Given the description of an element on the screen output the (x, y) to click on. 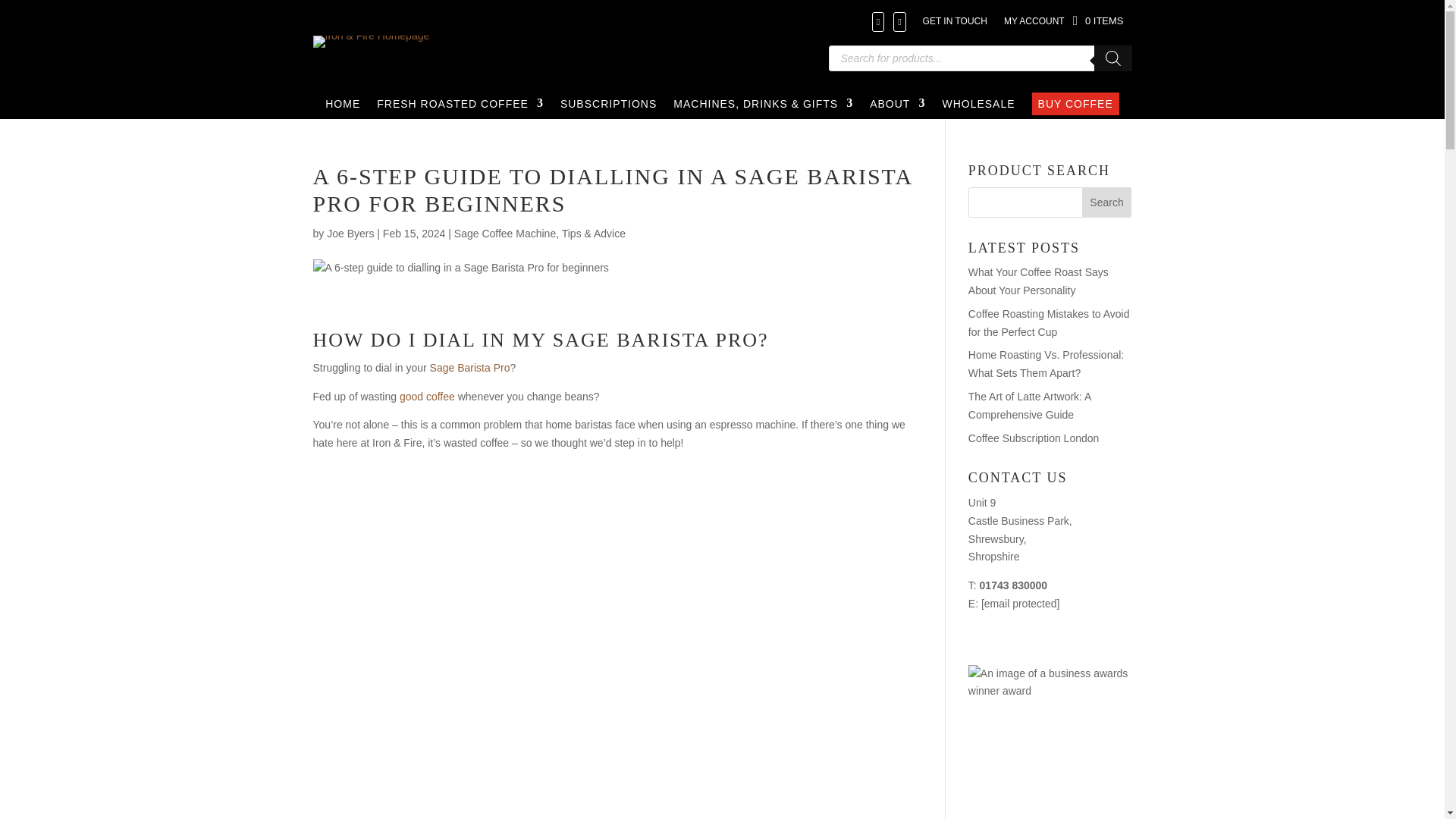
Search (1106, 202)
0 ITEMS (1098, 18)
SUBSCRIPTIONS (608, 103)
GET IN TOUCH (955, 21)
FRESH ROASTED COFFEE (460, 103)
Posts by Joe Byers (350, 233)
MY ACCOUNT (1034, 21)
HOME (341, 103)
